Given the description of an element on the screen output the (x, y) to click on. 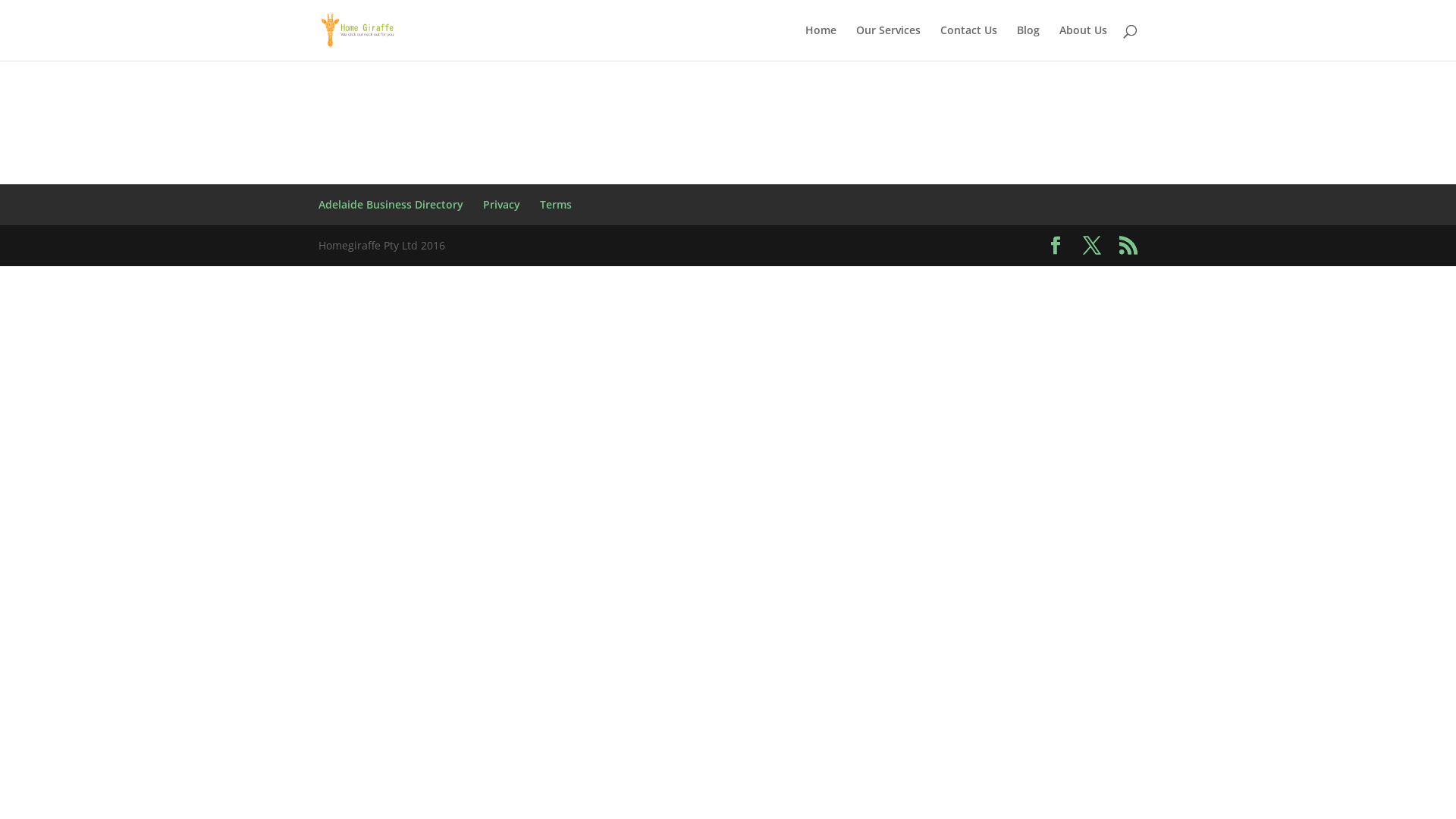
Adelaide Business Directory Element type: text (390, 204)
Our Services Element type: text (888, 42)
Contact Us Element type: text (968, 42)
Terms Element type: text (555, 204)
About Us Element type: text (1083, 42)
Home Element type: text (820, 42)
Blog Element type: text (1027, 42)
Privacy Element type: text (501, 204)
